Given the description of an element on the screen output the (x, y) to click on. 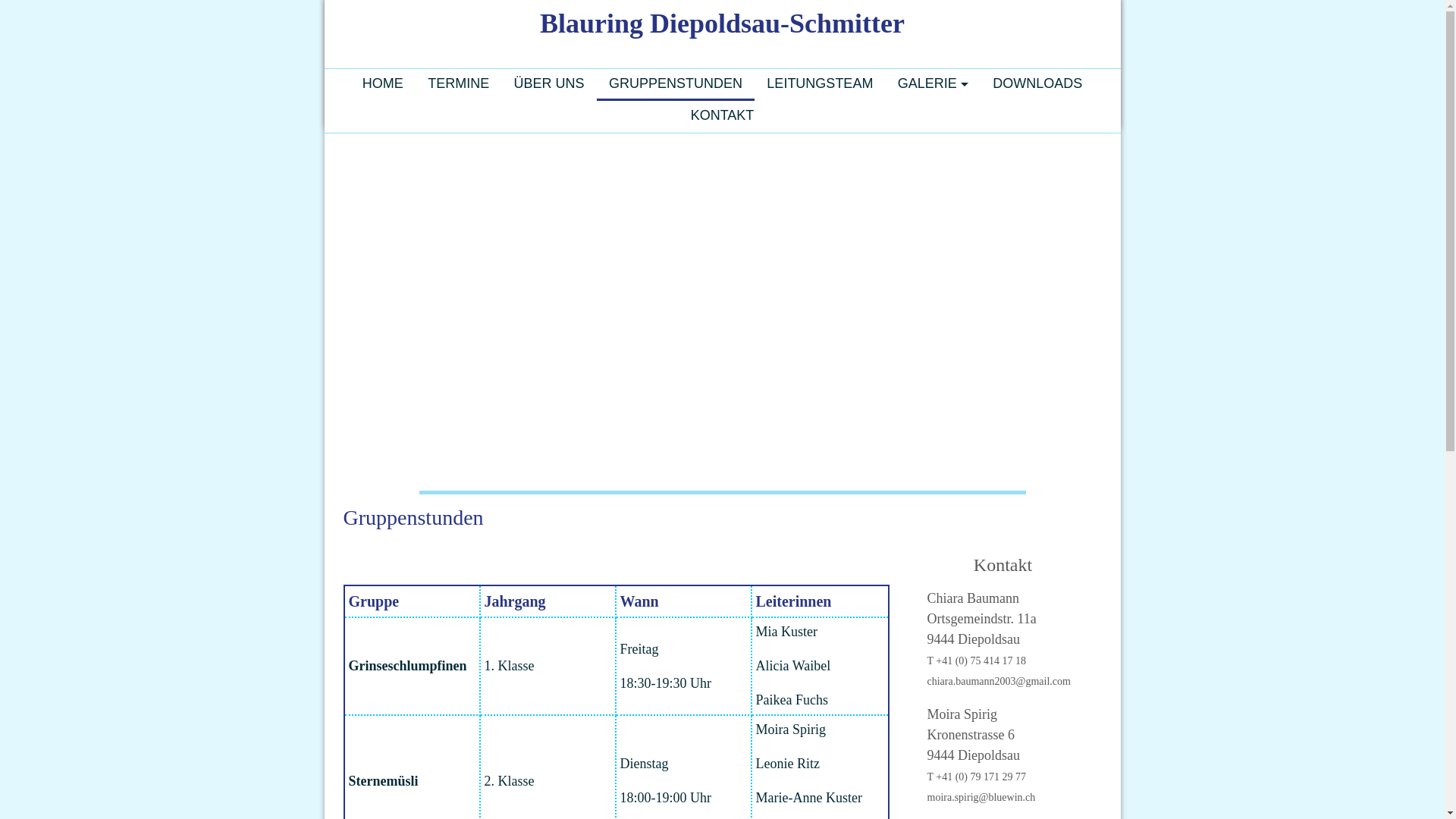
GALERIE Element type: text (932, 83)
HOME Element type: text (382, 83)
KONTAKT Element type: text (721, 115)
TERMINE Element type: text (458, 83)
LEITUNGSTEAM Element type: text (819, 83)
DOWNLOADS Element type: text (1037, 83)
GRUPPENSTUNDEN Element type: text (675, 83)
